Given the description of an element on the screen output the (x, y) to click on. 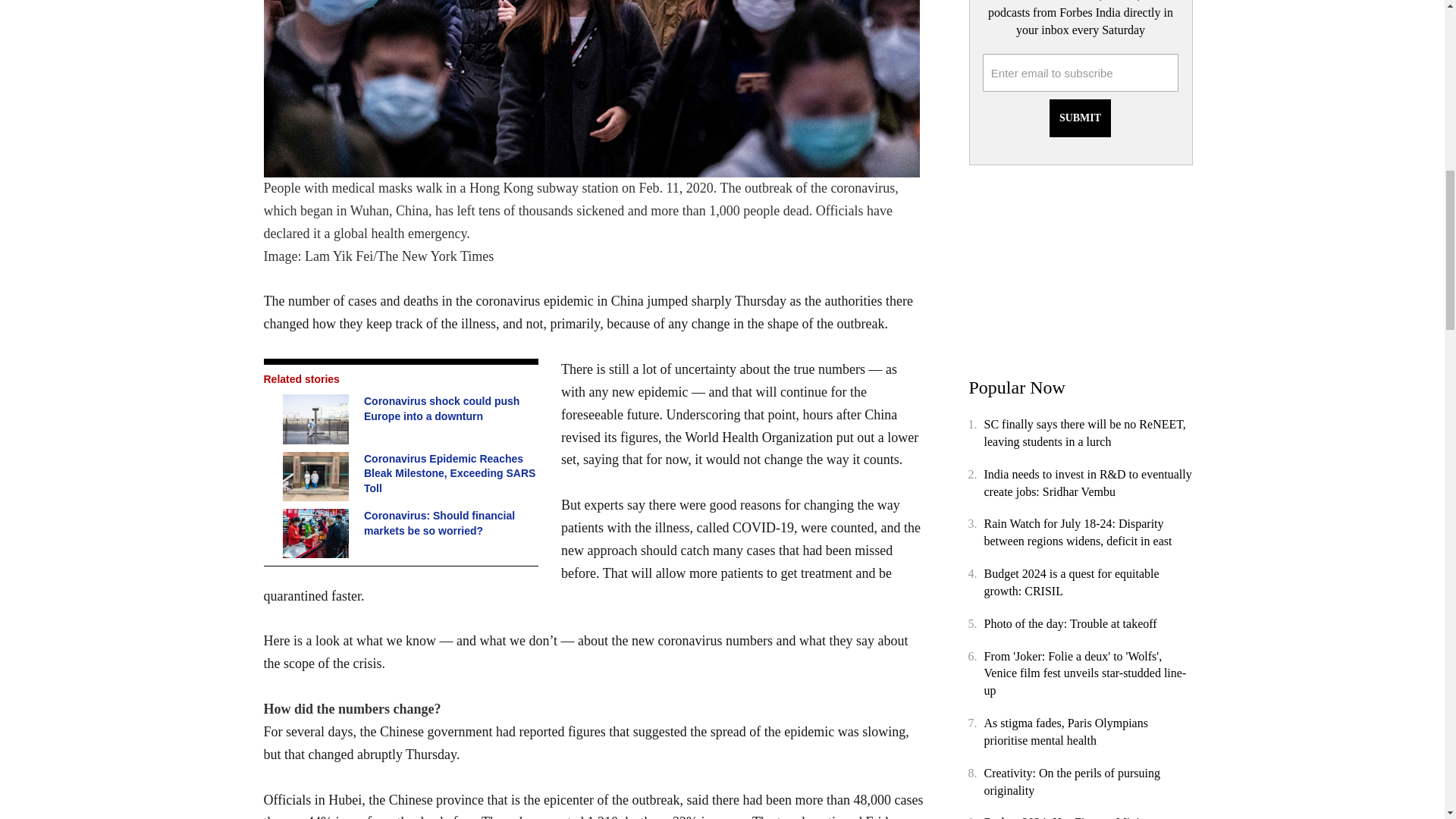
Coronavirus shock could push Europe into a downturn (317, 418)
Coronavirus: Should financial markets be so worried? (317, 532)
How the Coronavirus numbers changed so sharply (593, 88)
